Given the description of an element on the screen output the (x, y) to click on. 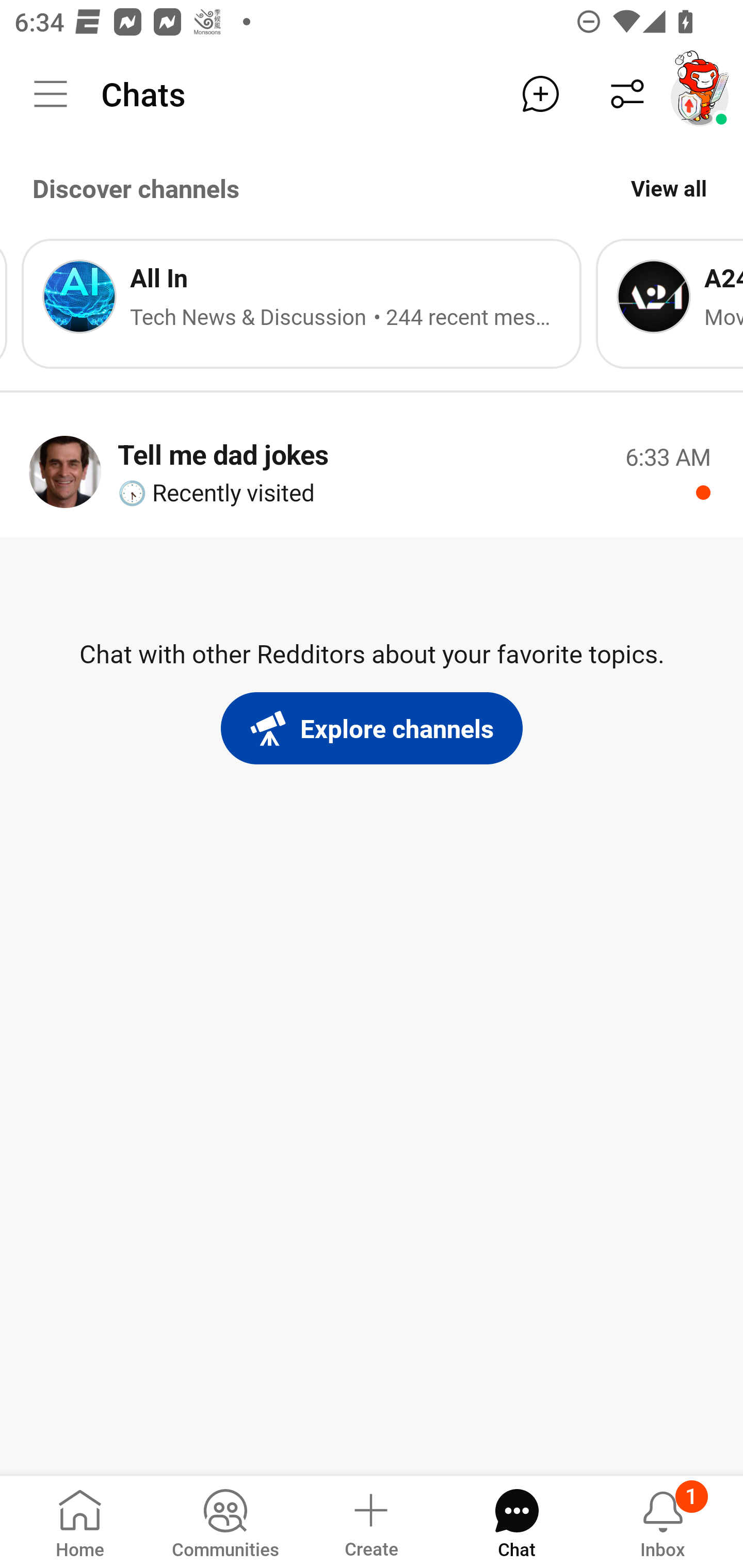
Community menu (50, 93)
New chat (540, 93)
Filter chats (626, 93)
TestAppium002 account (699, 93)
View all (668, 188)
Tell me dad jokes 6:33 AM 🕟 Recently visited (371, 471)
Explore channels (371, 728)
Home (80, 1520)
Communities (225, 1520)
Create a post Create (370, 1520)
Chat (516, 1520)
Inbox, has 1 notification 1 Inbox (662, 1520)
